Given the description of an element on the screen output the (x, y) to click on. 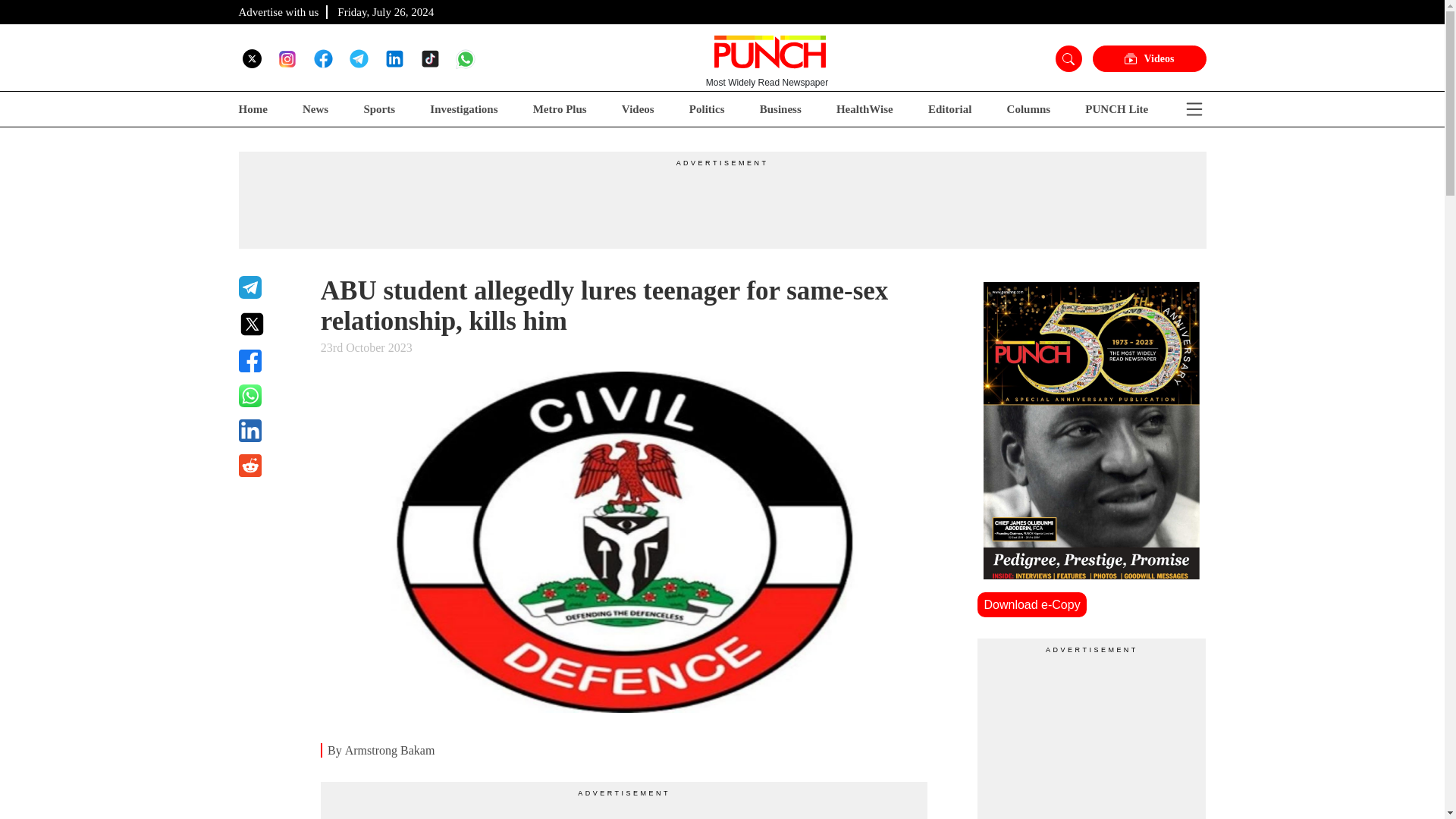
Columns (1029, 109)
PUNCH Lite (1116, 109)
Follow us on Linkedin (395, 58)
Editorial (950, 109)
3rd party ad content (721, 202)
Friday, July 26, 2024 (385, 11)
Videos (1148, 58)
Follow Us on Instagram (287, 58)
Metro Plus (559, 109)
Sports (378, 109)
Home (252, 109)
Videos (637, 109)
Share on Facbook (269, 360)
Advertise with us (278, 11)
Follow Our Channel on Telegram (358, 58)
